Given the description of an element on the screen output the (x, y) to click on. 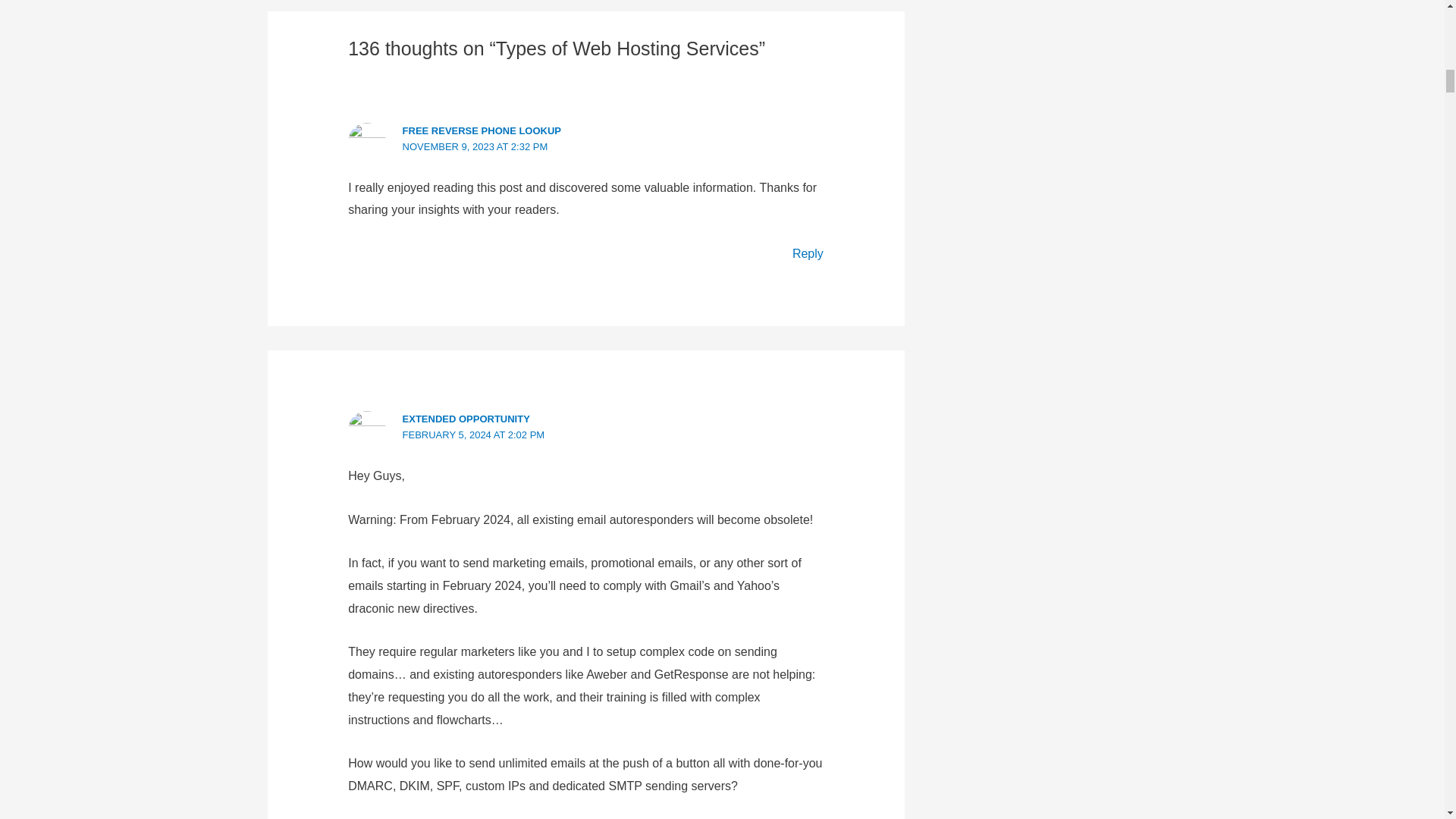
FREE REVERSE PHONE LOOKUP (481, 130)
FEBRUARY 5, 2024 AT 2:02 PM (473, 434)
Reply (808, 253)
NOVEMBER 9, 2023 AT 2:32 PM (475, 146)
